Given the description of an element on the screen output the (x, y) to click on. 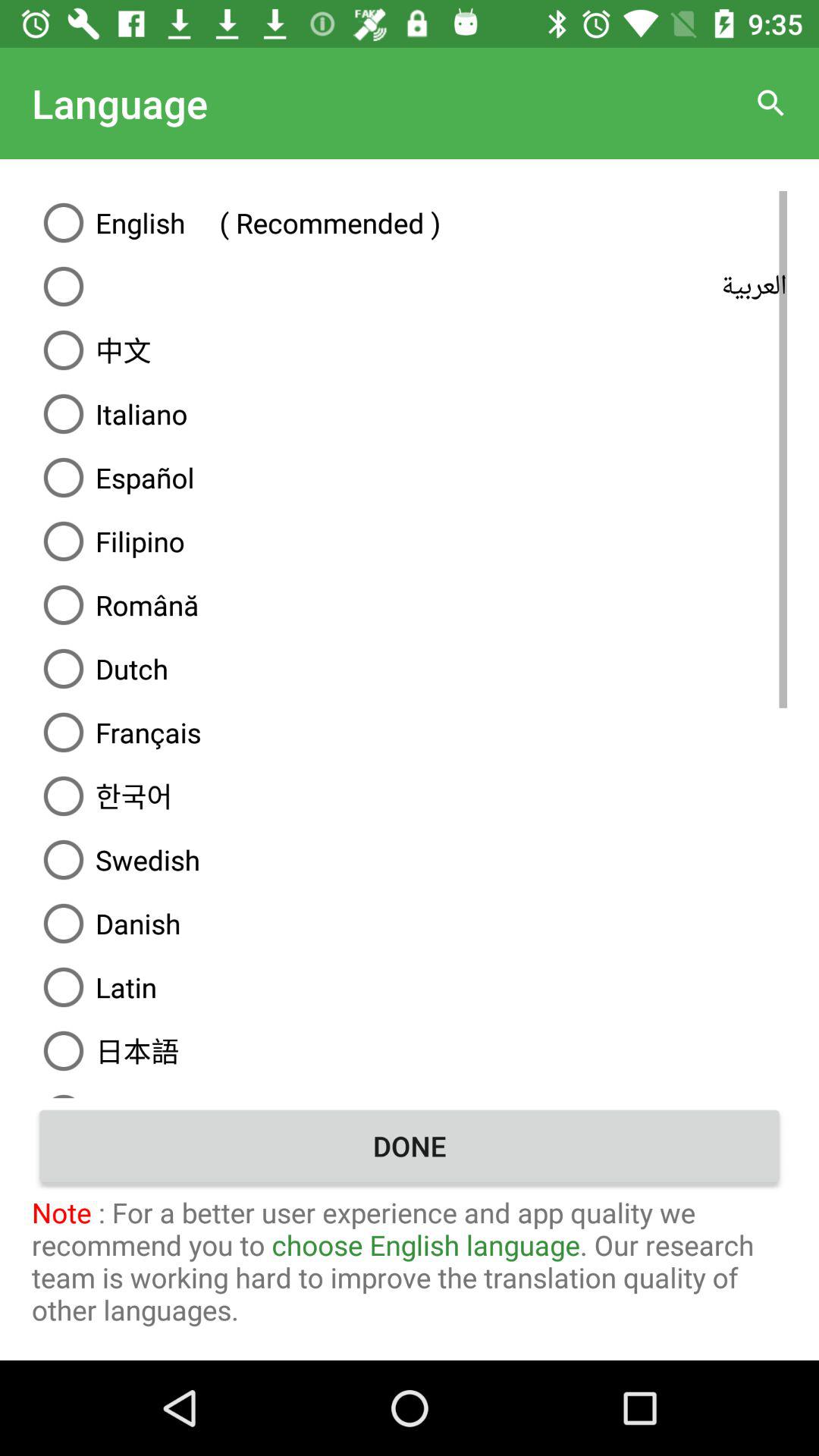
turn on swedish item (409, 859)
